Given the description of an element on the screen output the (x, y) to click on. 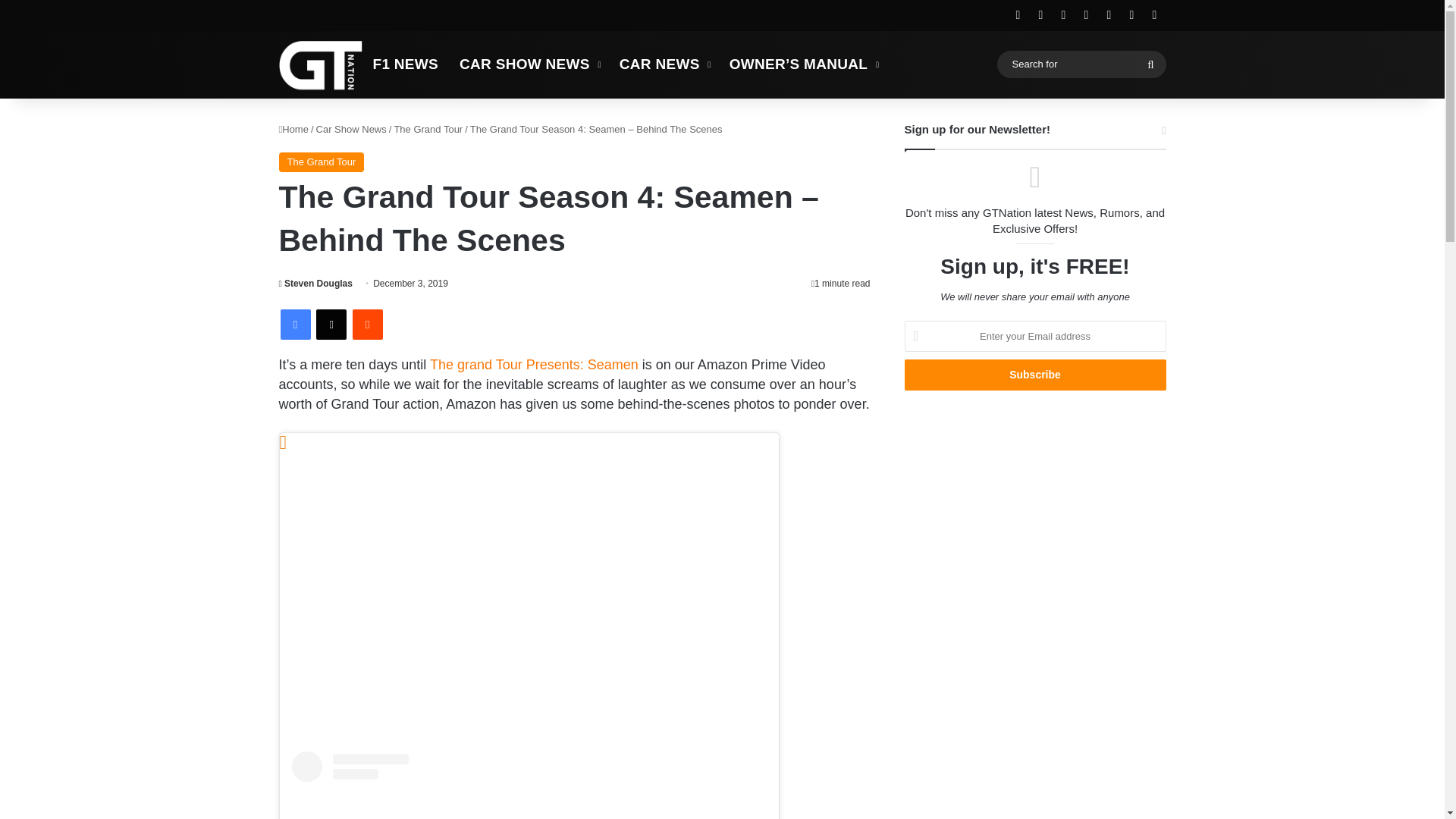
The Grand Tour (322, 161)
Subscribe (1035, 374)
Reddit (367, 324)
Reddit (367, 324)
Steven Douglas (315, 283)
Grand Tour Nation (320, 64)
Search for (1150, 63)
CAR SHOW NEWS (528, 64)
CAR NEWS (663, 64)
The grand Tour Presents: Seamen (534, 364)
Facebook (296, 324)
Car Show News (351, 129)
Steven Douglas (315, 283)
F1 NEWS (405, 64)
